Given the description of an element on the screen output the (x, y) to click on. 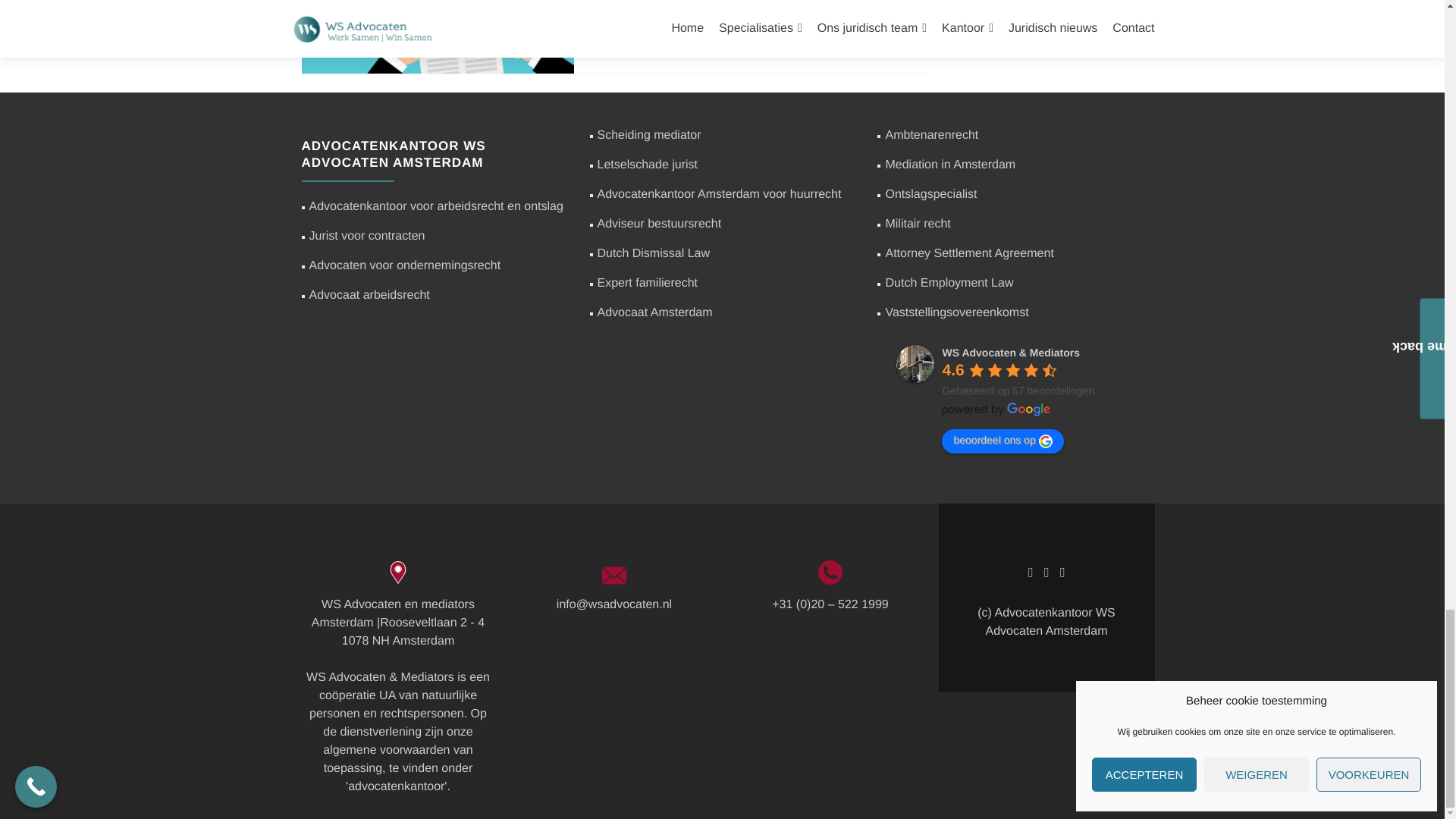
powered by Google (996, 409)
